Given the description of an element on the screen output the (x, y) to click on. 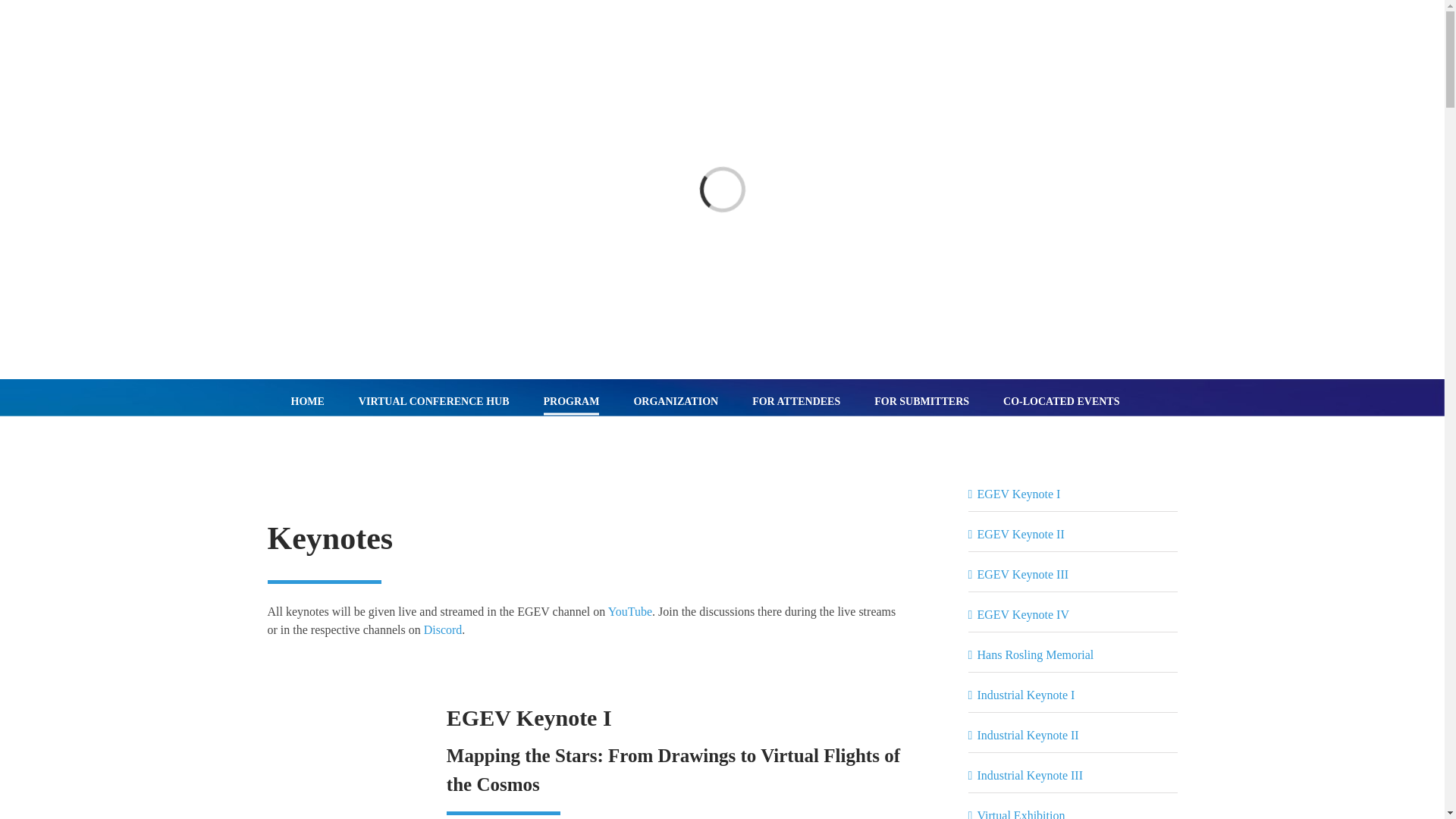
VIRTUAL CONFERENCE HUB (433, 402)
FOR SUBMITTERS (922, 402)
PROGRAM (571, 402)
FOR ATTENDEES (796, 402)
ORGANIZATION (675, 402)
